Given the description of an element on the screen output the (x, y) to click on. 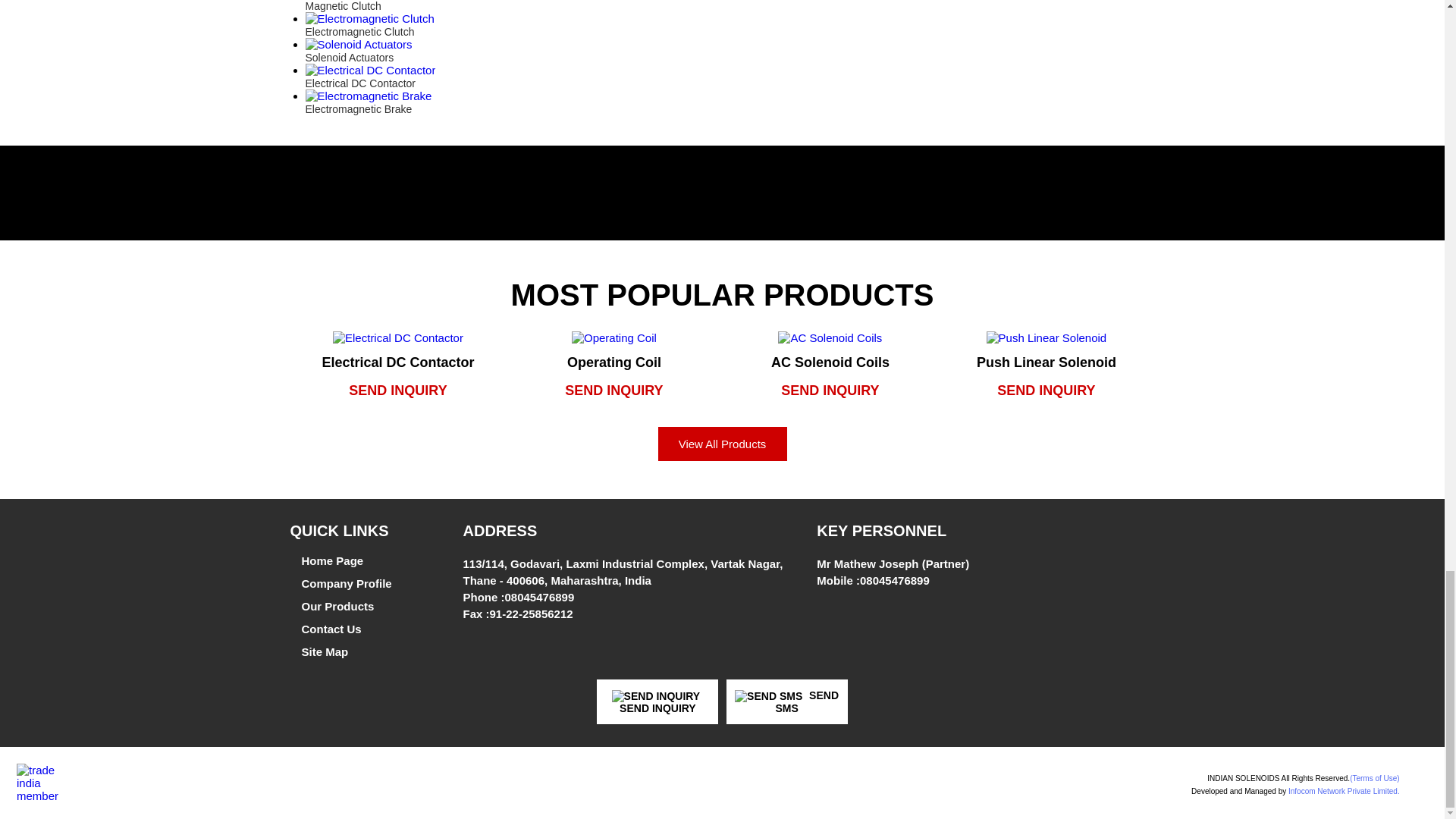
Operating Coil (614, 337)
Send Inquiry (655, 695)
Push Linear Solenoid (1046, 337)
Electrical DC Contactor (398, 337)
Send SMS (768, 695)
AC Solenoid Coils (829, 337)
